Given the description of an element on the screen output the (x, y) to click on. 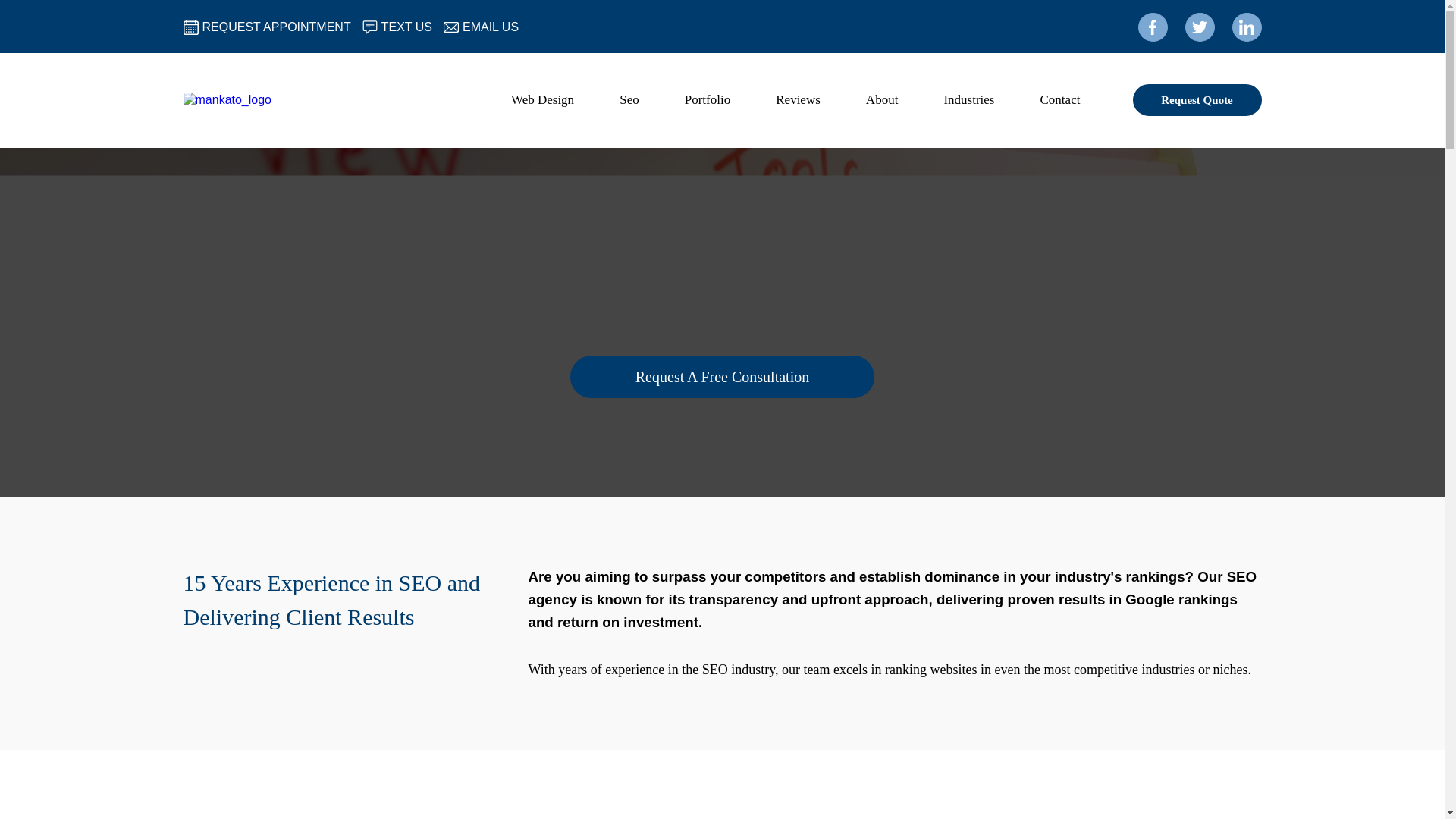
REQUEST APPOINTMENT (276, 27)
TEXT US (406, 27)
Contact (1060, 100)
Portfolio (708, 100)
Web Design (541, 100)
Request A Free Consultation (722, 376)
EMAIL US (490, 27)
Industries (968, 100)
Reviews (797, 100)
Request Quote (1197, 100)
